Given the description of an element on the screen output the (x, y) to click on. 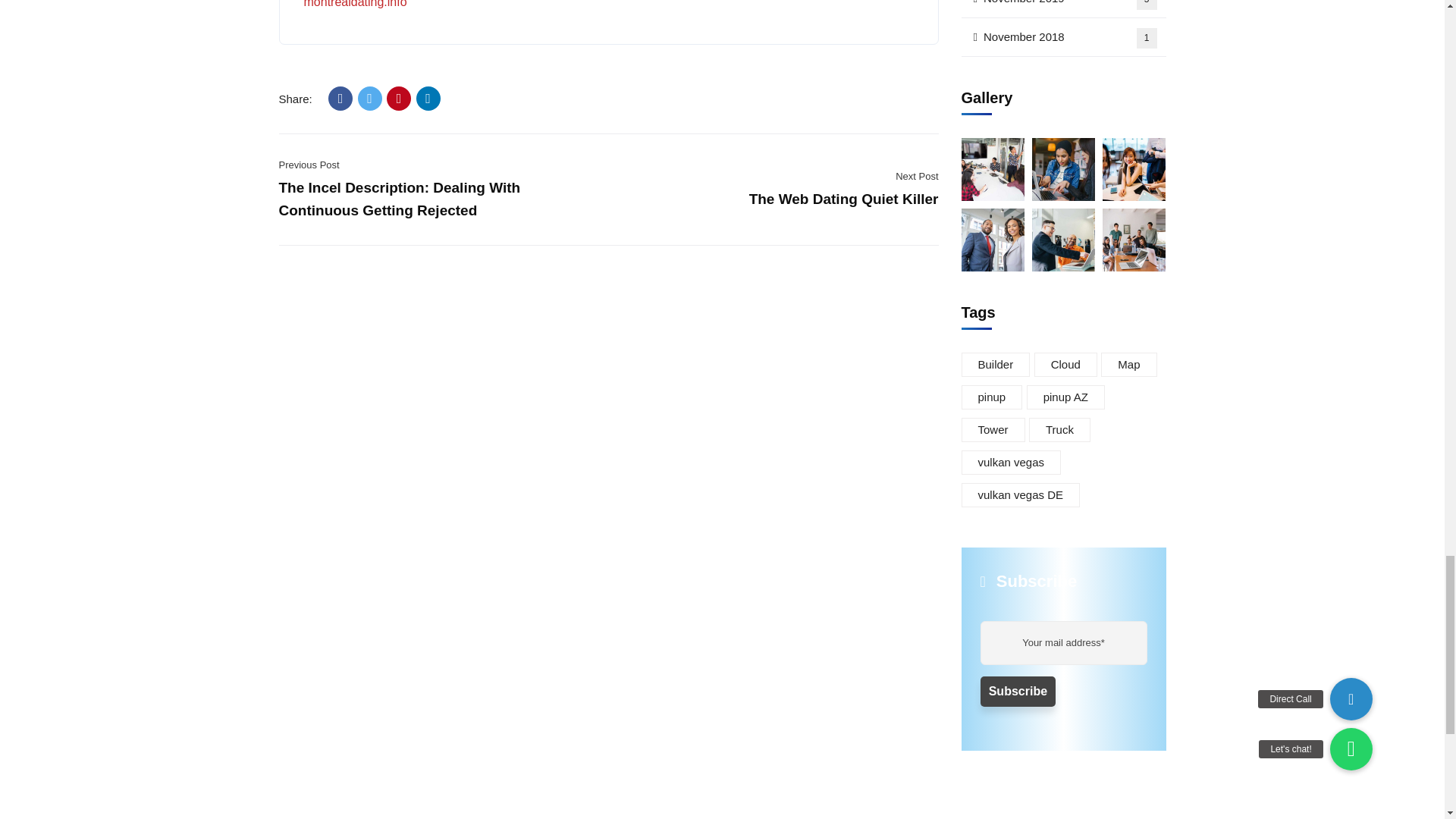
The Web Dating Quiet Killer (844, 198)
Twitter (369, 98)
montrealdating.info (354, 4)
Facebook (340, 98)
Pinterest (398, 98)
LinkedIn (428, 98)
Subscribe (1017, 691)
